Given the description of an element on the screen output the (x, y) to click on. 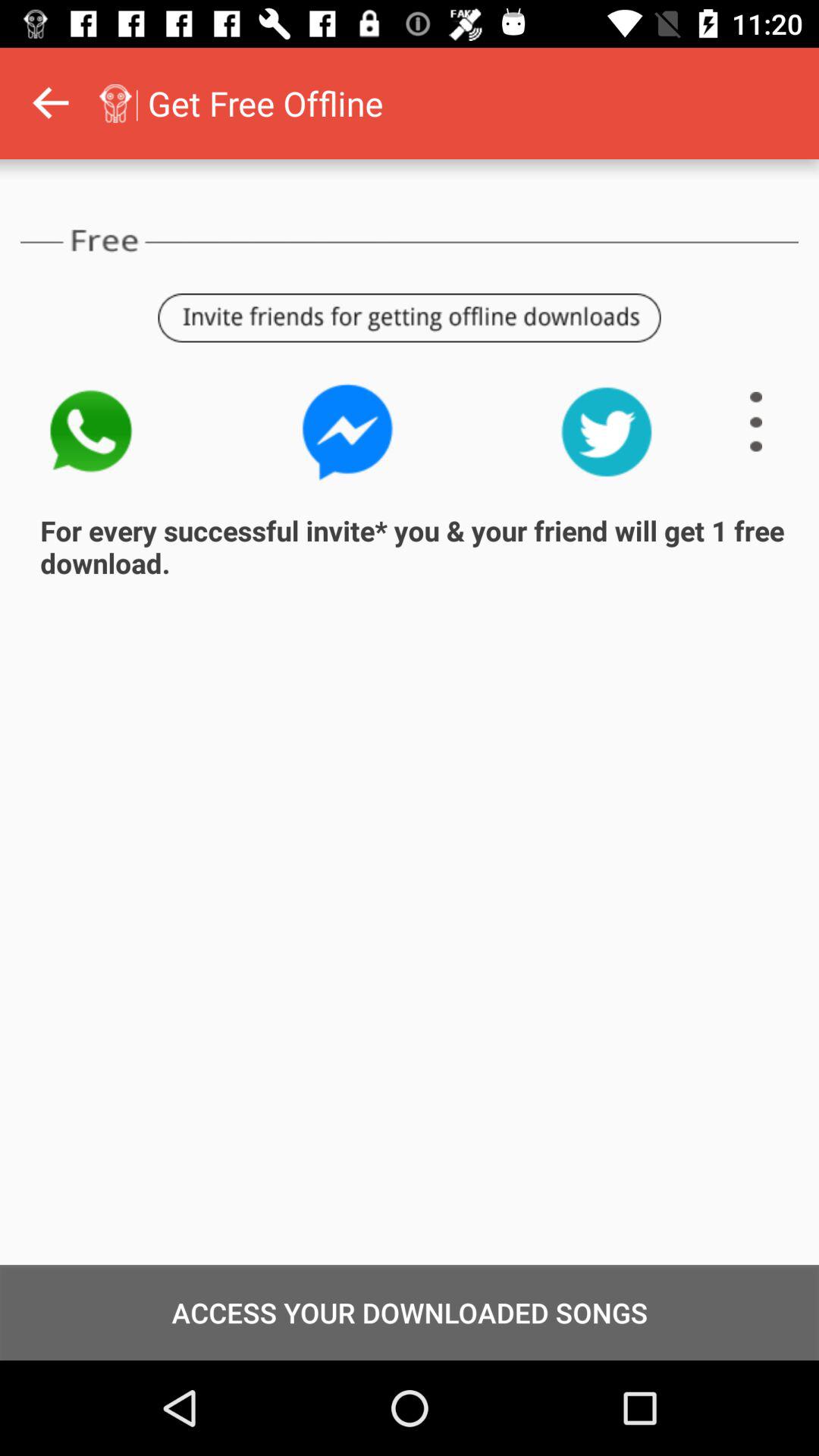
choose item below for every successful (409, 1312)
